Given the description of an element on the screen output the (x, y) to click on. 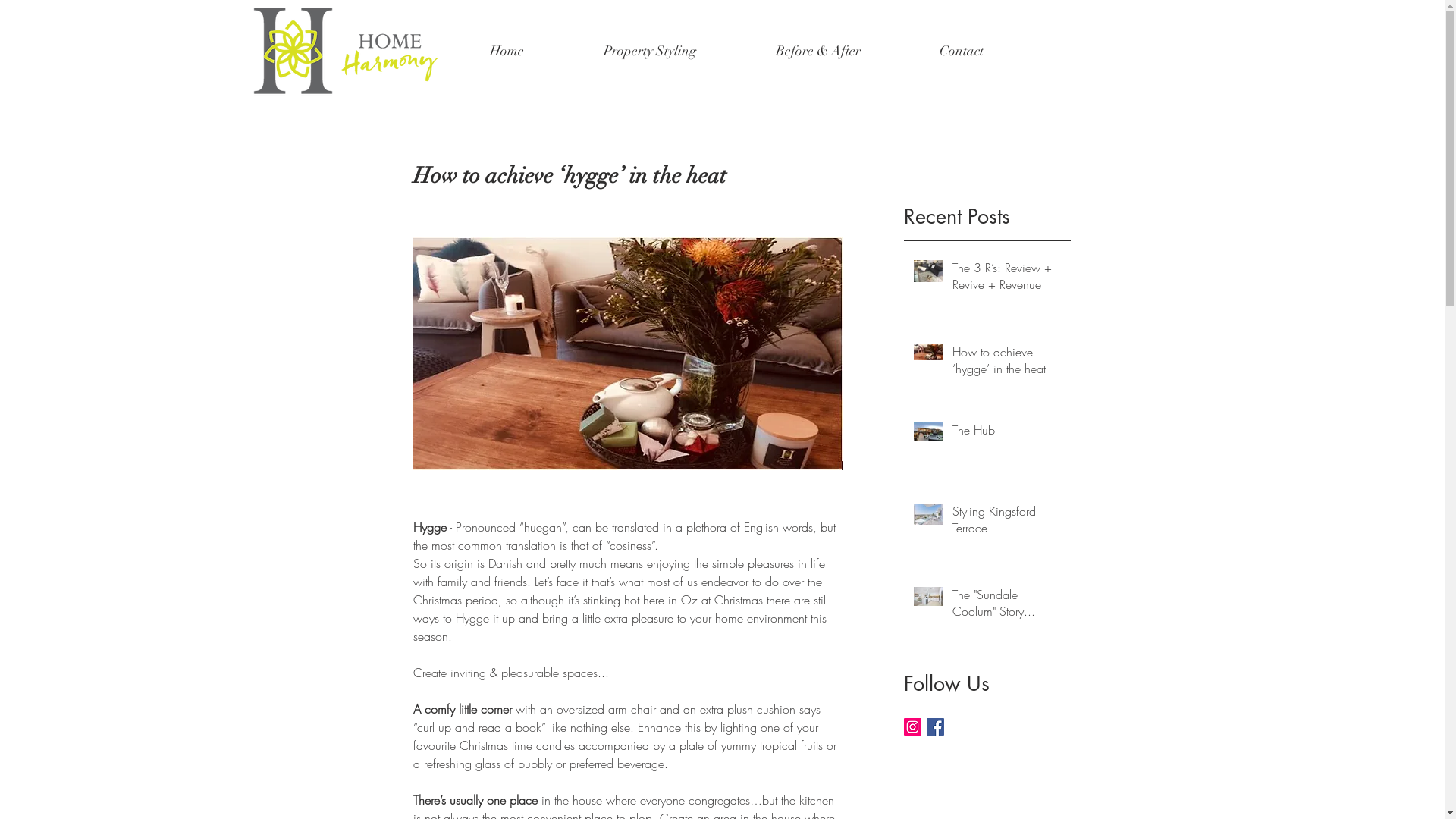
The Hub Element type: text (1006, 432)
Styling Kingsford Terrace Element type: text (1006, 522)
Contact Element type: text (989, 51)
The "Sundale Coolum" Story... Element type: text (1006, 606)
Home Element type: text (535, 51)
Before & After Element type: text (846, 51)
